Given the description of an element on the screen output the (x, y) to click on. 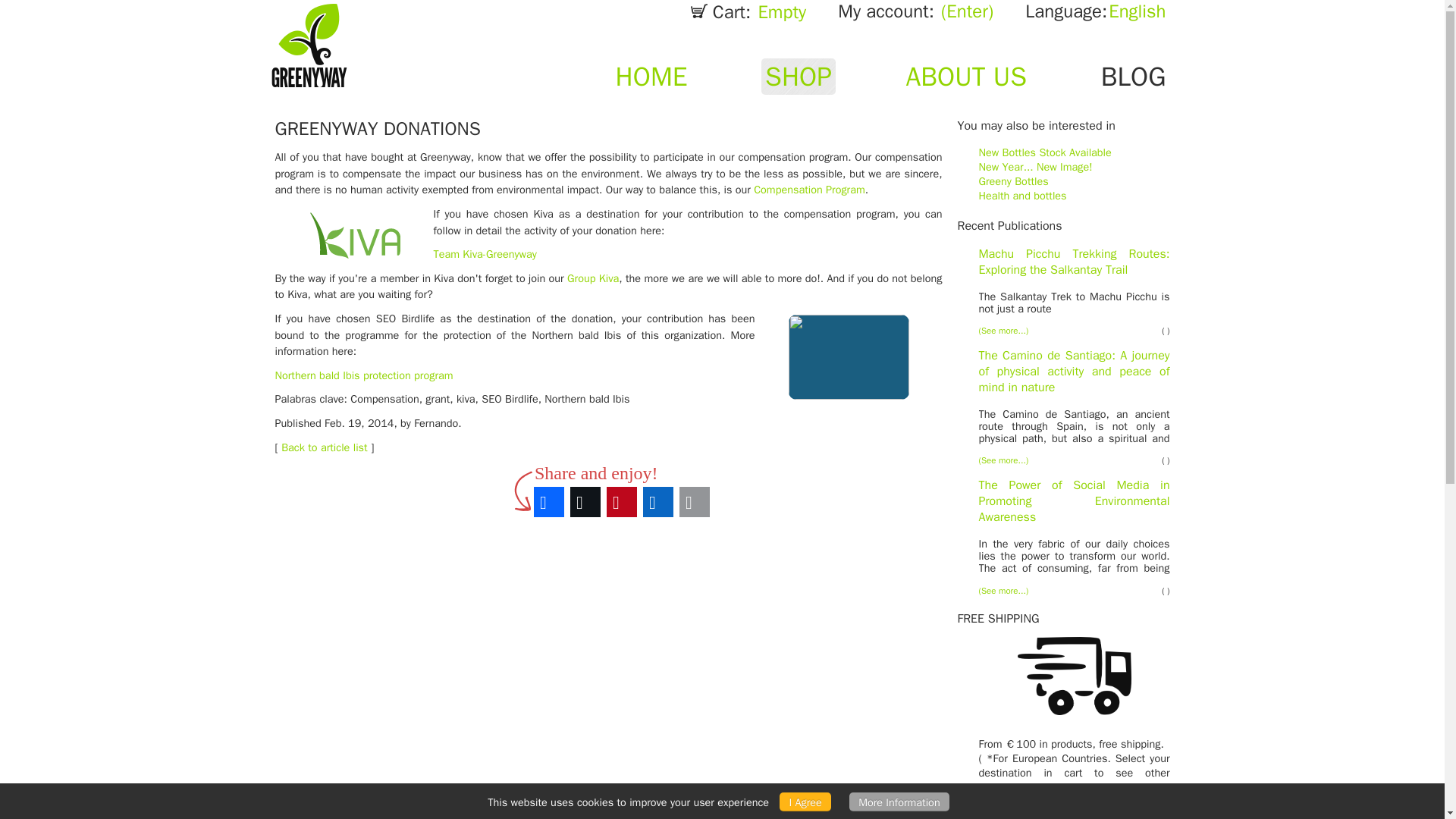
Facebook (549, 502)
Northern bald Ibis protection program (363, 375)
I Agree (803, 801)
Go to your data, promotions and orders (906, 11)
Pinterest (622, 502)
Greeny Bottles (1013, 181)
SHOP (798, 76)
Health and bottles (1021, 195)
BLOG (1135, 76)
